Given the description of an element on the screen output the (x, y) to click on. 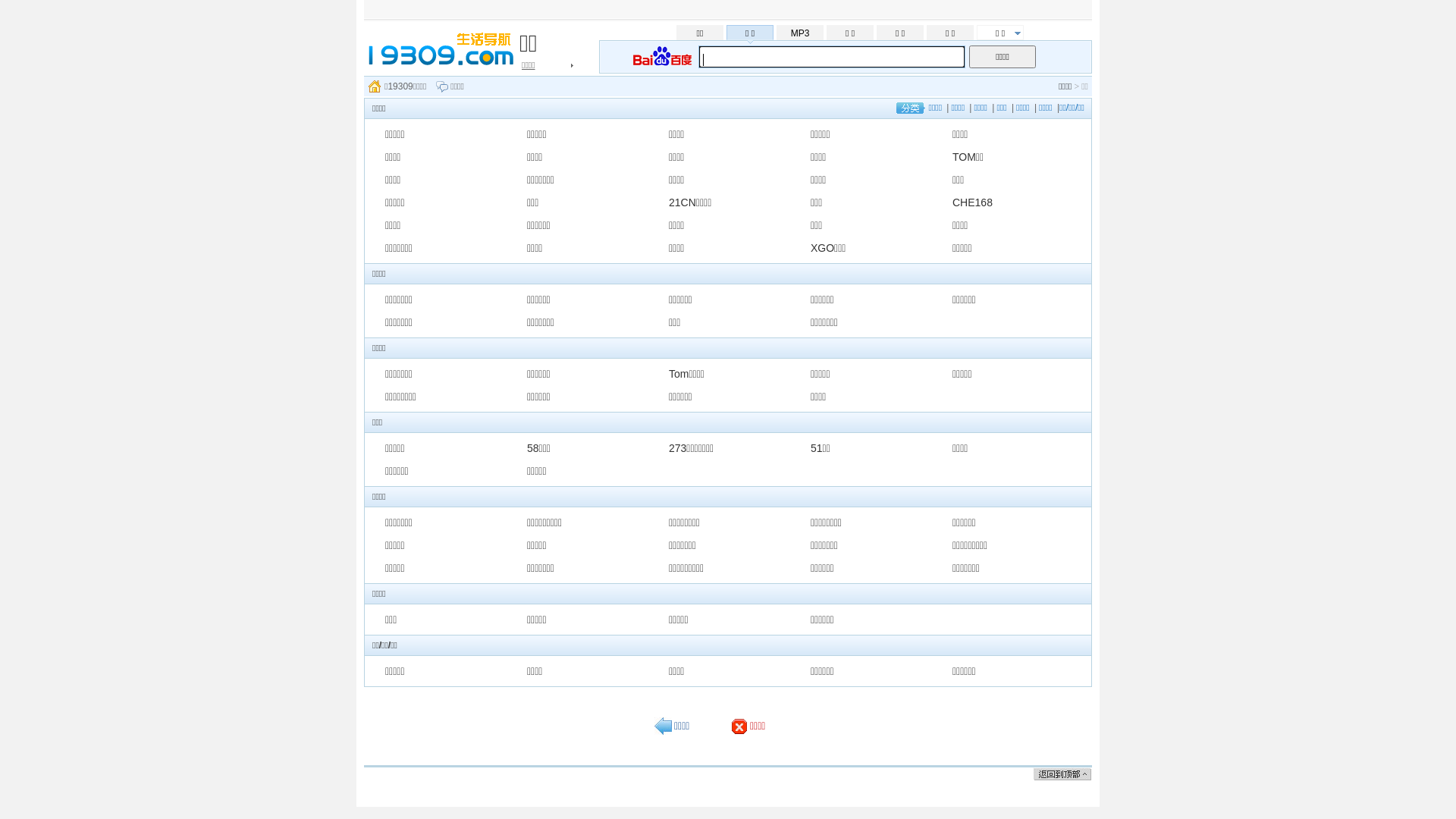
MP3 Element type: text (799, 32)
CHE168 Element type: text (972, 202)
